Given the description of an element on the screen output the (x, y) to click on. 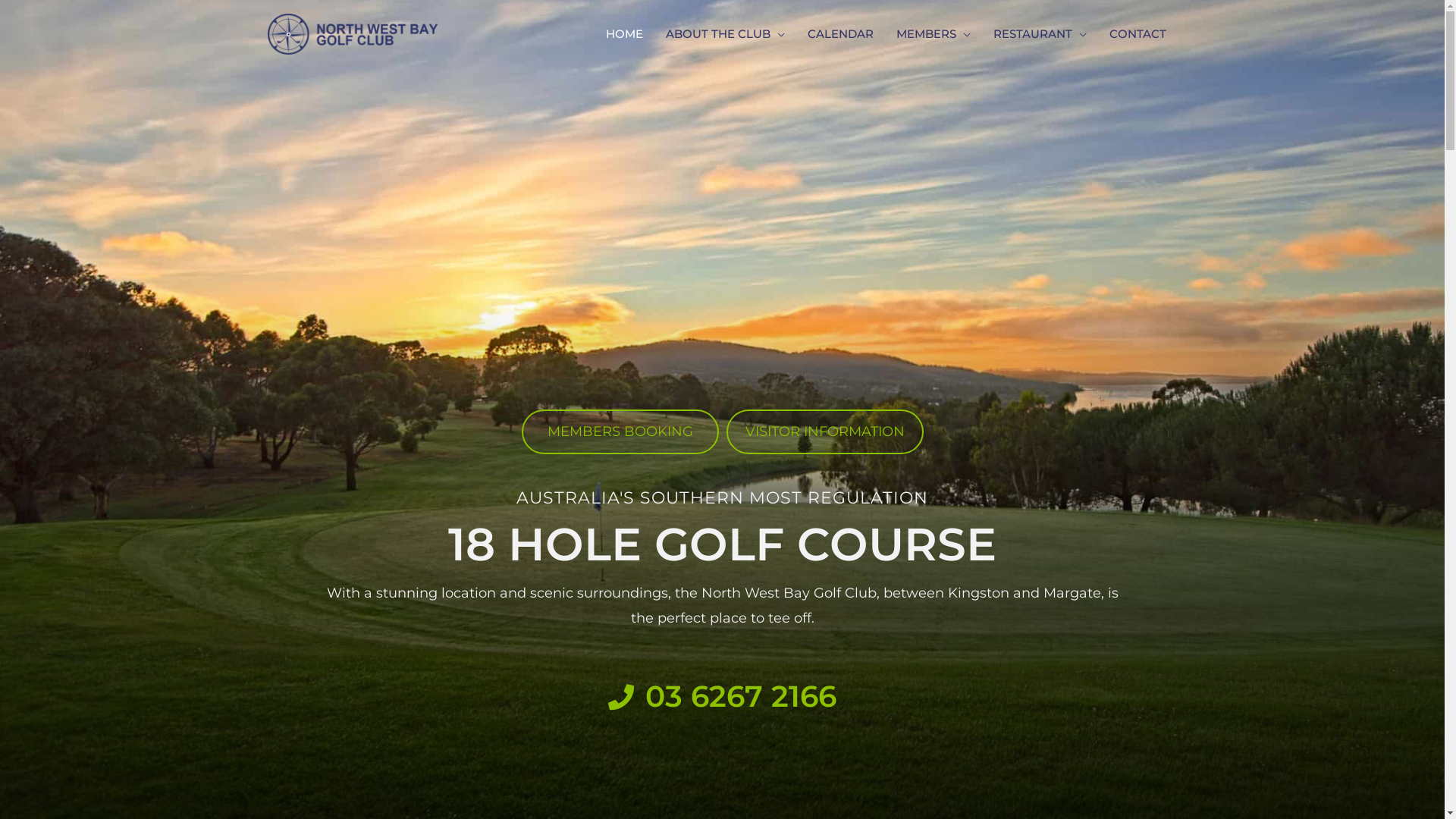
VISITOR INFORMATION Element type: text (824, 431)
HOME Element type: text (624, 33)
ABOUT THE CLUB Element type: text (724, 33)
MEMBERS BOOKING Element type: text (619, 431)
CALENDAR Element type: text (840, 33)
MEMBERS Element type: text (932, 33)
CONTACT Element type: text (1137, 33)
RESTAURANT Element type: text (1039, 33)
